Given the description of an element on the screen output the (x, y) to click on. 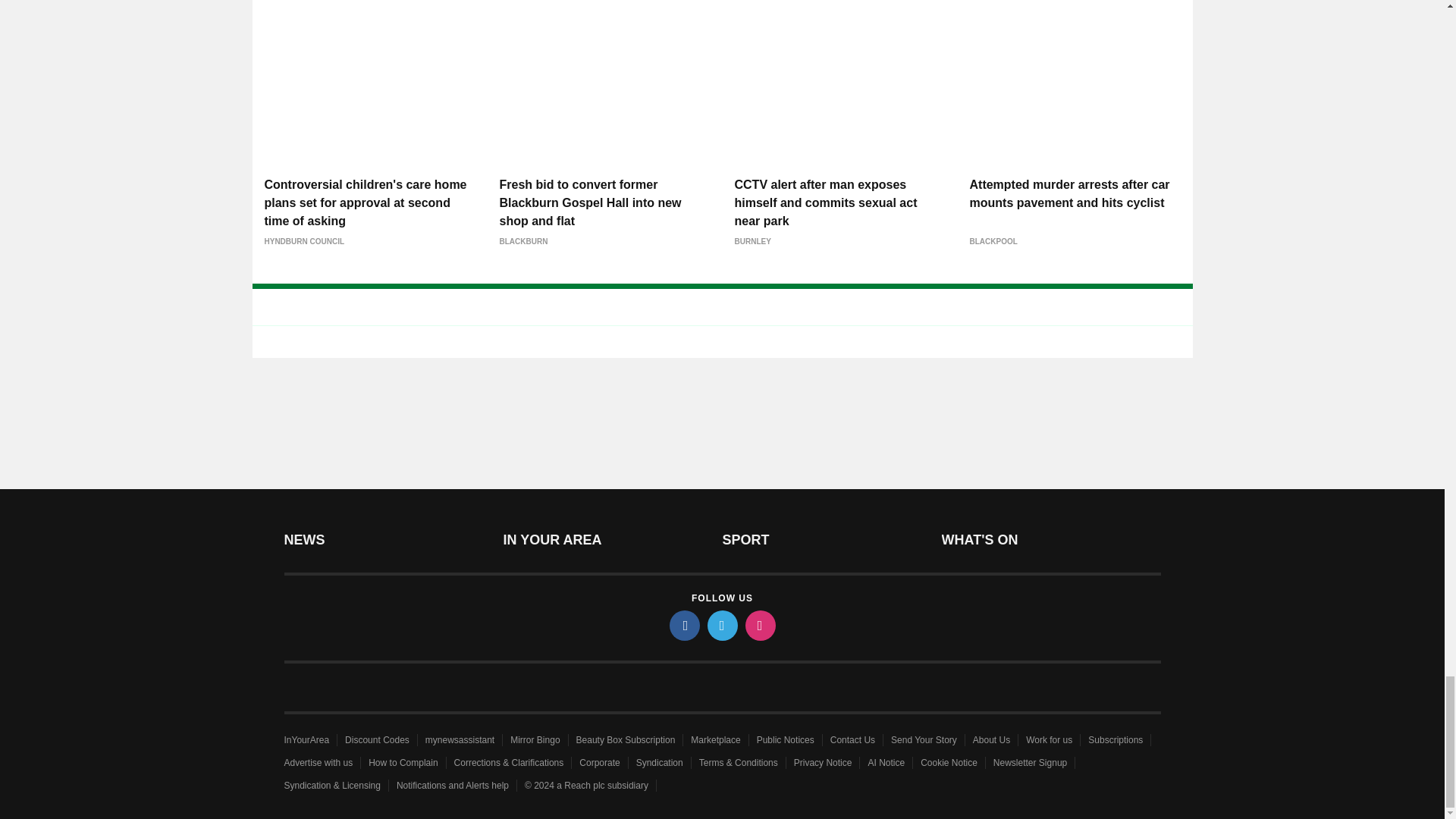
twitter (721, 625)
instagram (759, 625)
facebook (683, 625)
